Given the description of an element on the screen output the (x, y) to click on. 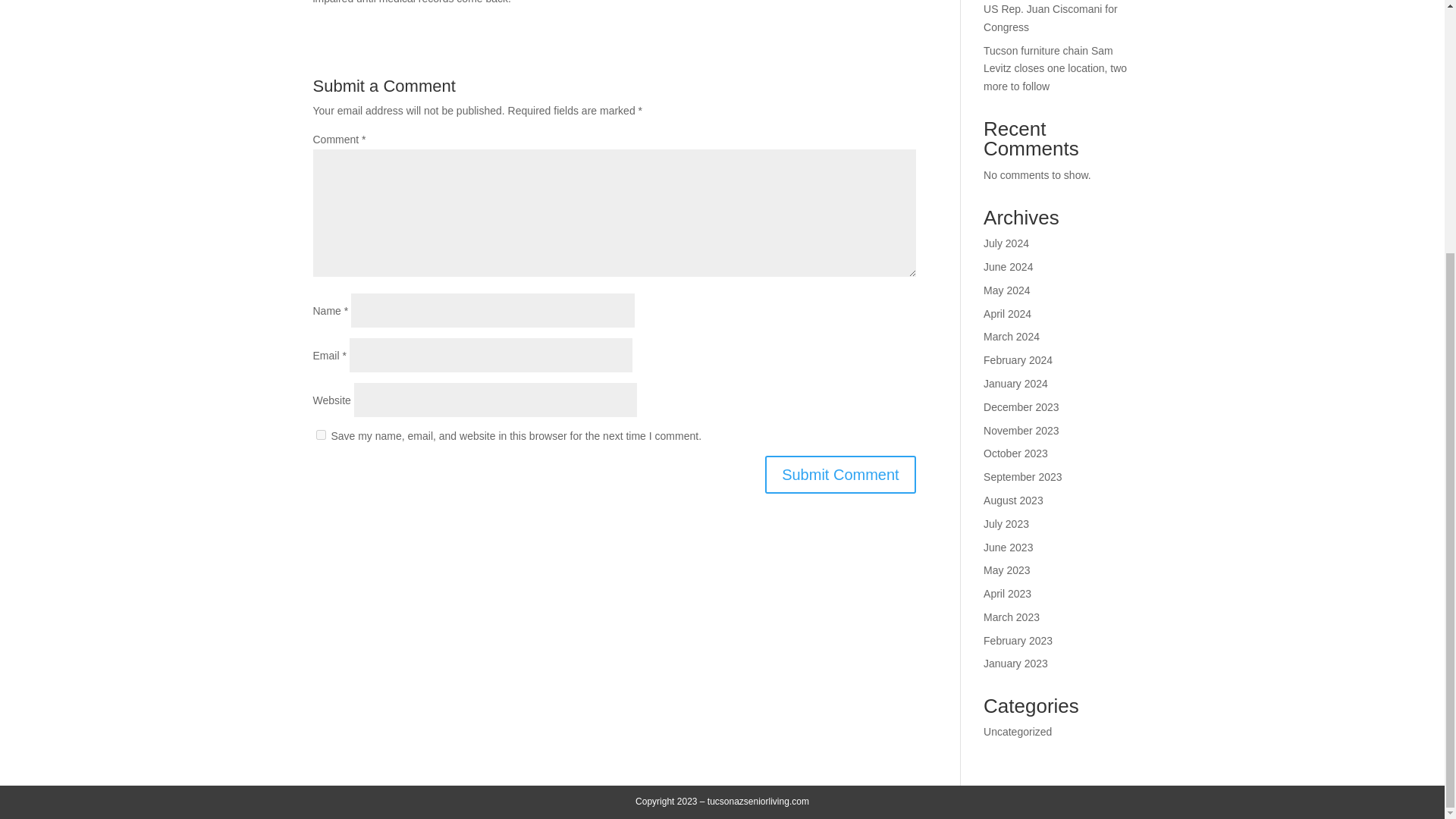
February 2024 (1018, 359)
Uncategorized (1017, 731)
May 2023 (1006, 570)
January 2024 (1016, 383)
August 2023 (1013, 500)
Submit Comment (840, 474)
March 2024 (1011, 336)
June 2023 (1008, 547)
October 2023 (1016, 453)
February 2023 (1018, 640)
September 2023 (1023, 476)
January 2023 (1016, 663)
December 2023 (1021, 407)
